Given the description of an element on the screen output the (x, y) to click on. 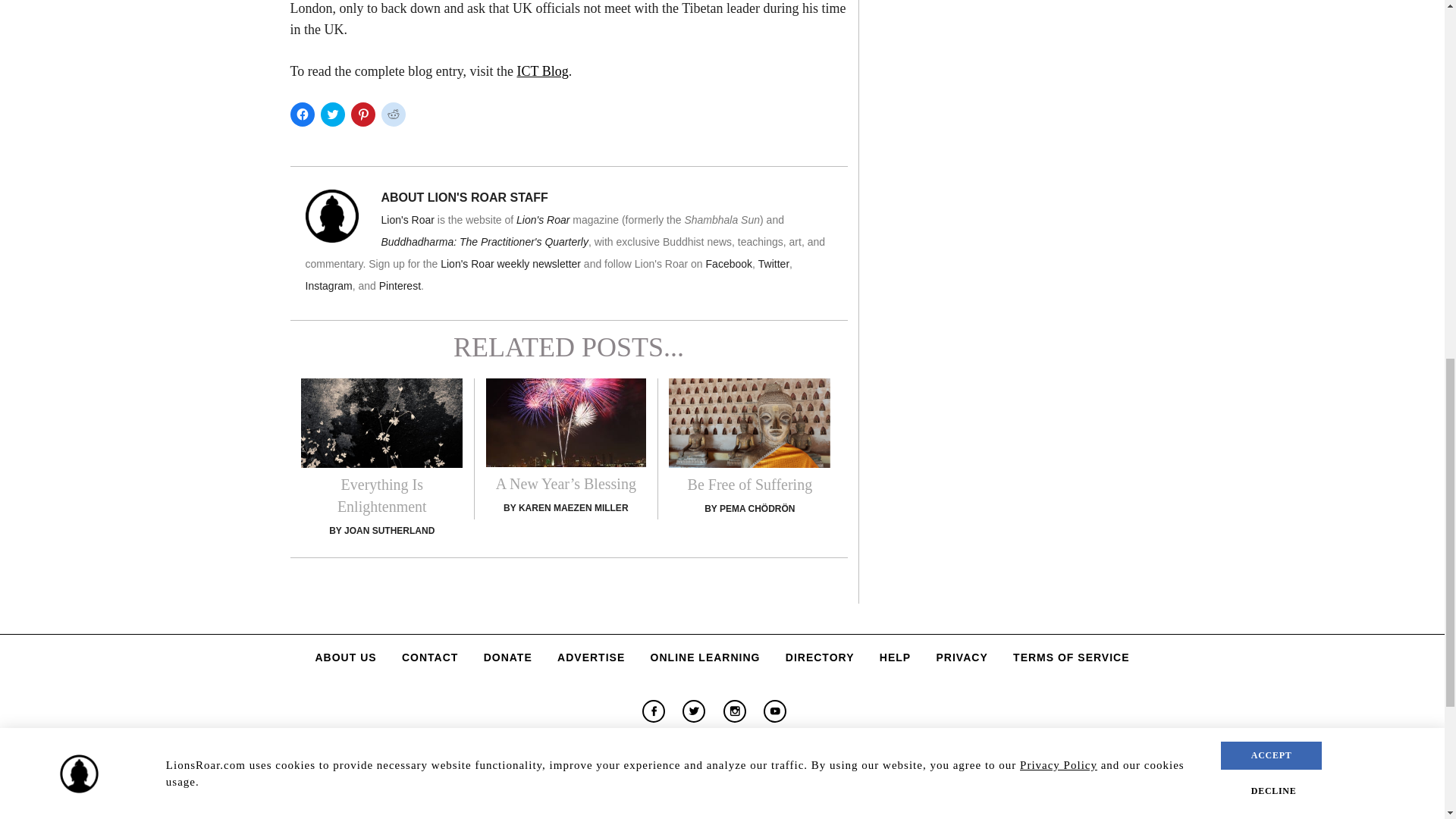
Click to share on Pinterest (362, 114)
Permanent Link toEverything Is Enlightenment (382, 446)
Permanent Link toBe Free of Suffering (748, 435)
Facebook (653, 711)
Click to share on Twitter (331, 114)
Click to share on Reddit (392, 114)
Click to share on Facebook (301, 114)
